Given the description of an element on the screen output the (x, y) to click on. 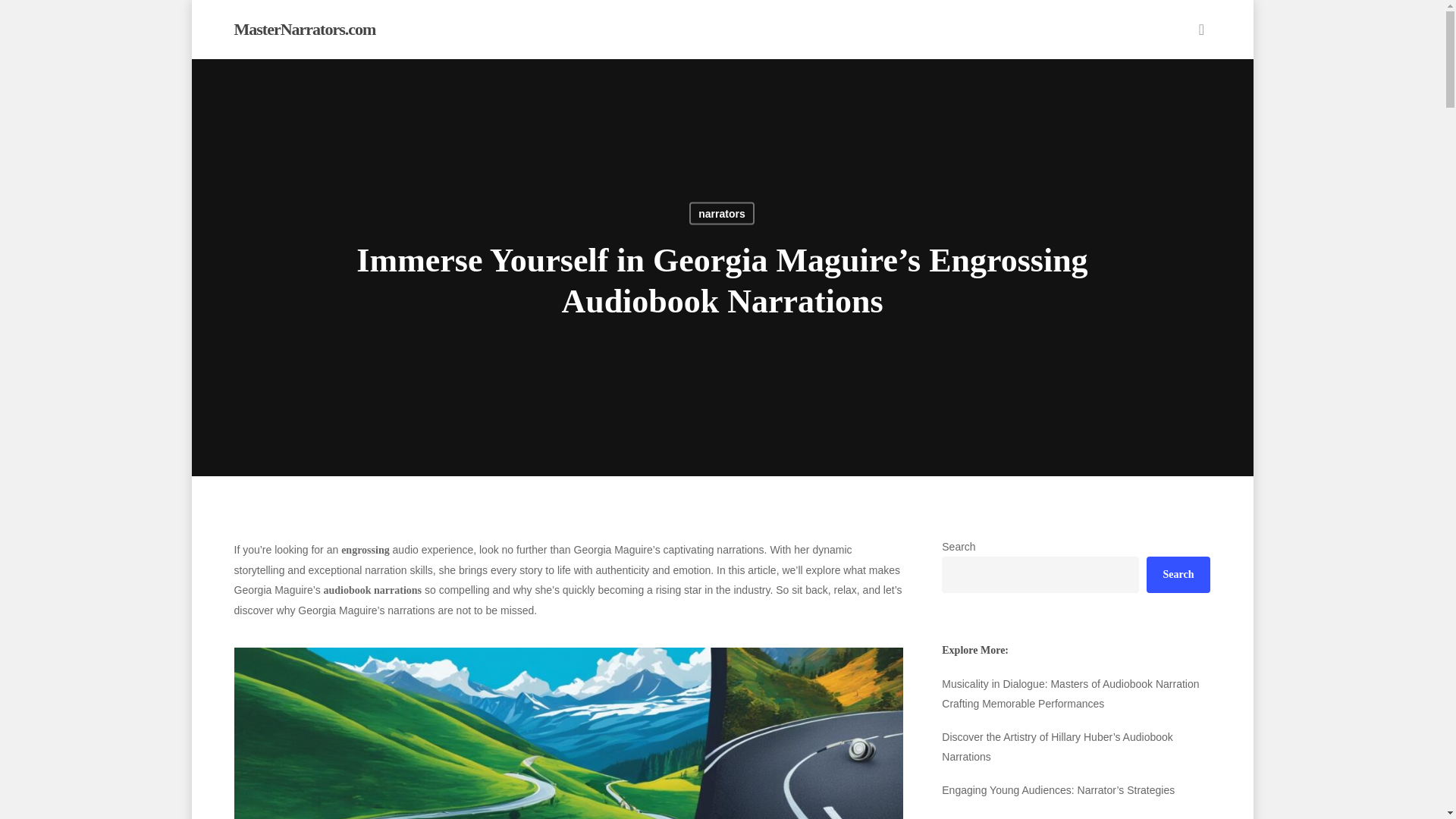
Georgia Maguire (567, 733)
narrators (721, 212)
search (1200, 28)
MasterNarrators.com (303, 29)
Search (1179, 574)
